Given the description of an element on the screen output the (x, y) to click on. 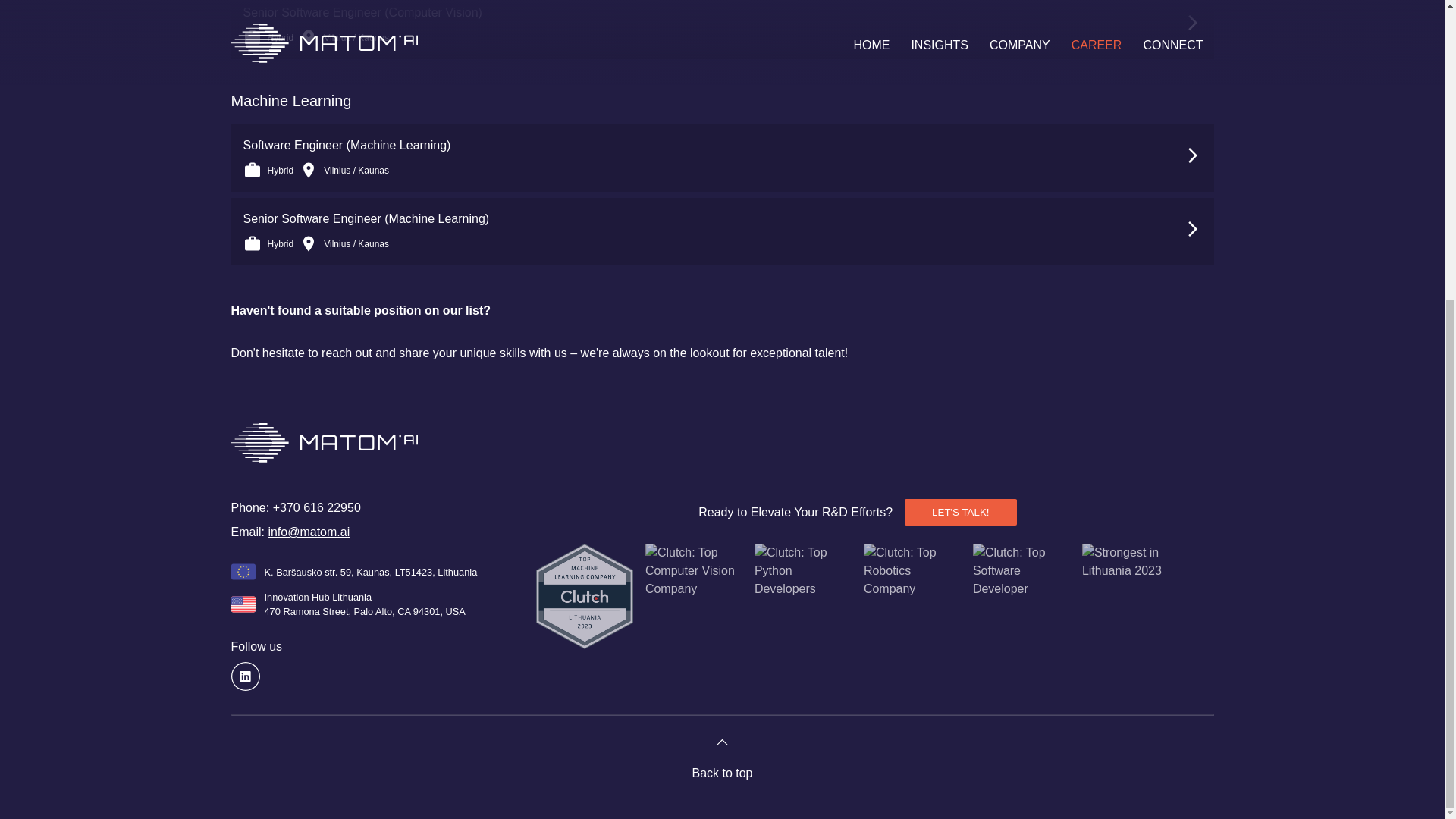
Back to top (721, 757)
Follow us on LinkedIn (244, 676)
LET'S TALK! (960, 511)
